Given the description of an element on the screen output the (x, y) to click on. 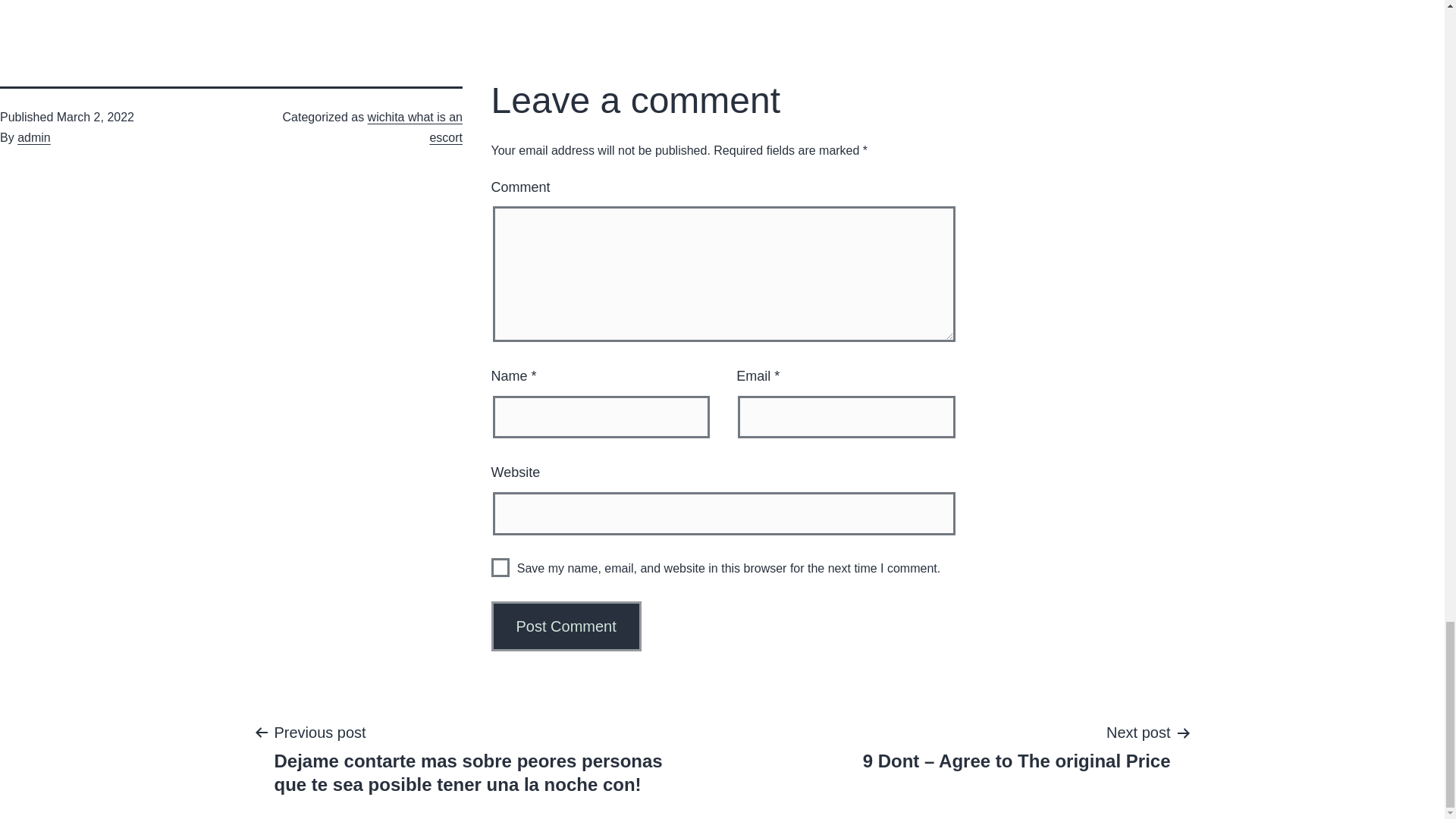
yes (500, 567)
admin (33, 137)
Post Comment (567, 626)
wichita what is an escort (415, 127)
Post Comment (567, 626)
